Given the description of an element on the screen output the (x, y) to click on. 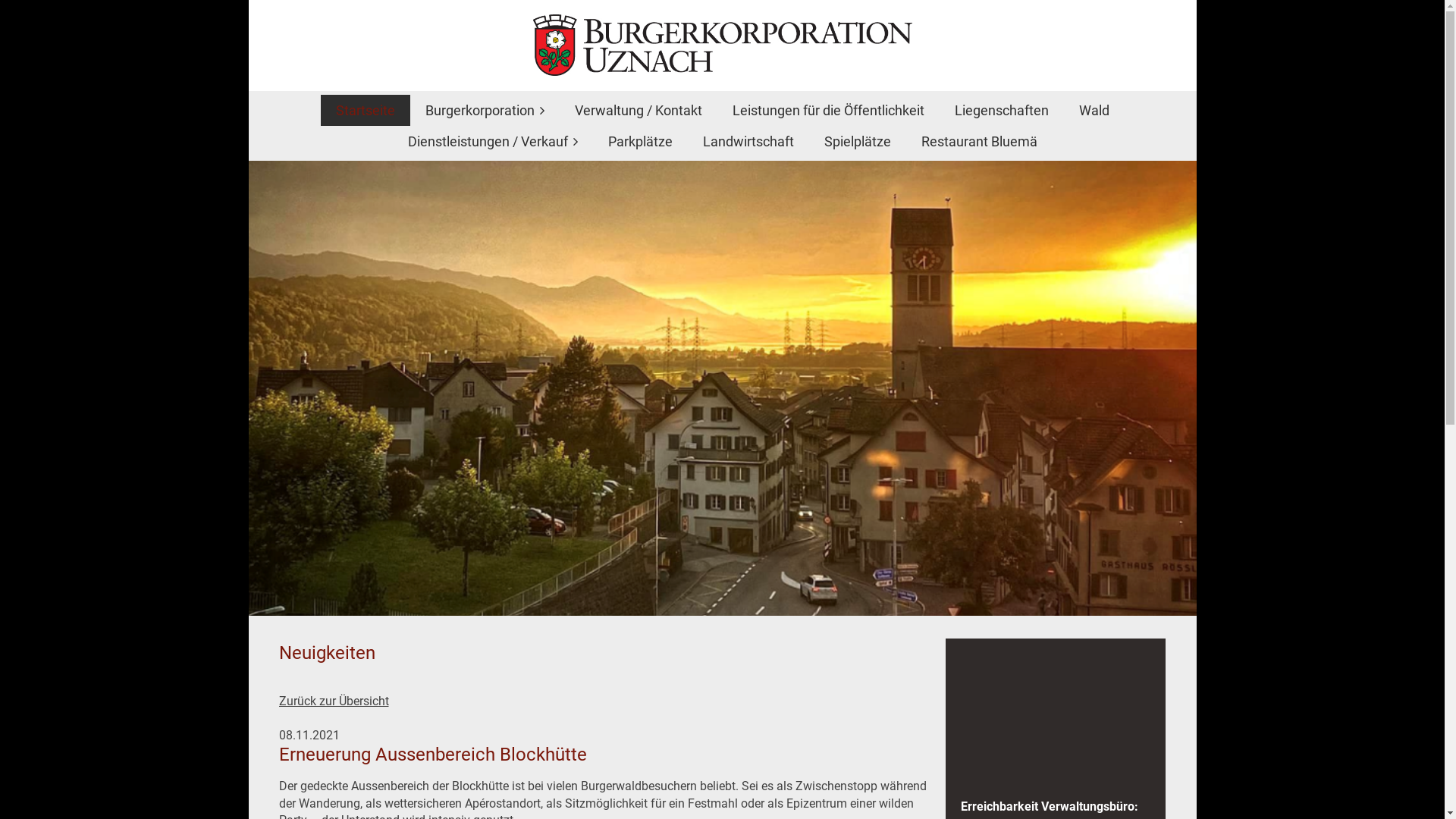
Wald Element type: text (1093, 109)
Verwaltung / Kontakt Element type: text (638, 109)
Liegenschaften Element type: text (1000, 109)
Burgerkorporation Element type: text (483, 109)
Startseite Element type: text (364, 109)
Landwirtschaft Element type: text (747, 140)
Dienstleistungen / Verkauf Element type: text (492, 140)
